Given the description of an element on the screen output the (x, y) to click on. 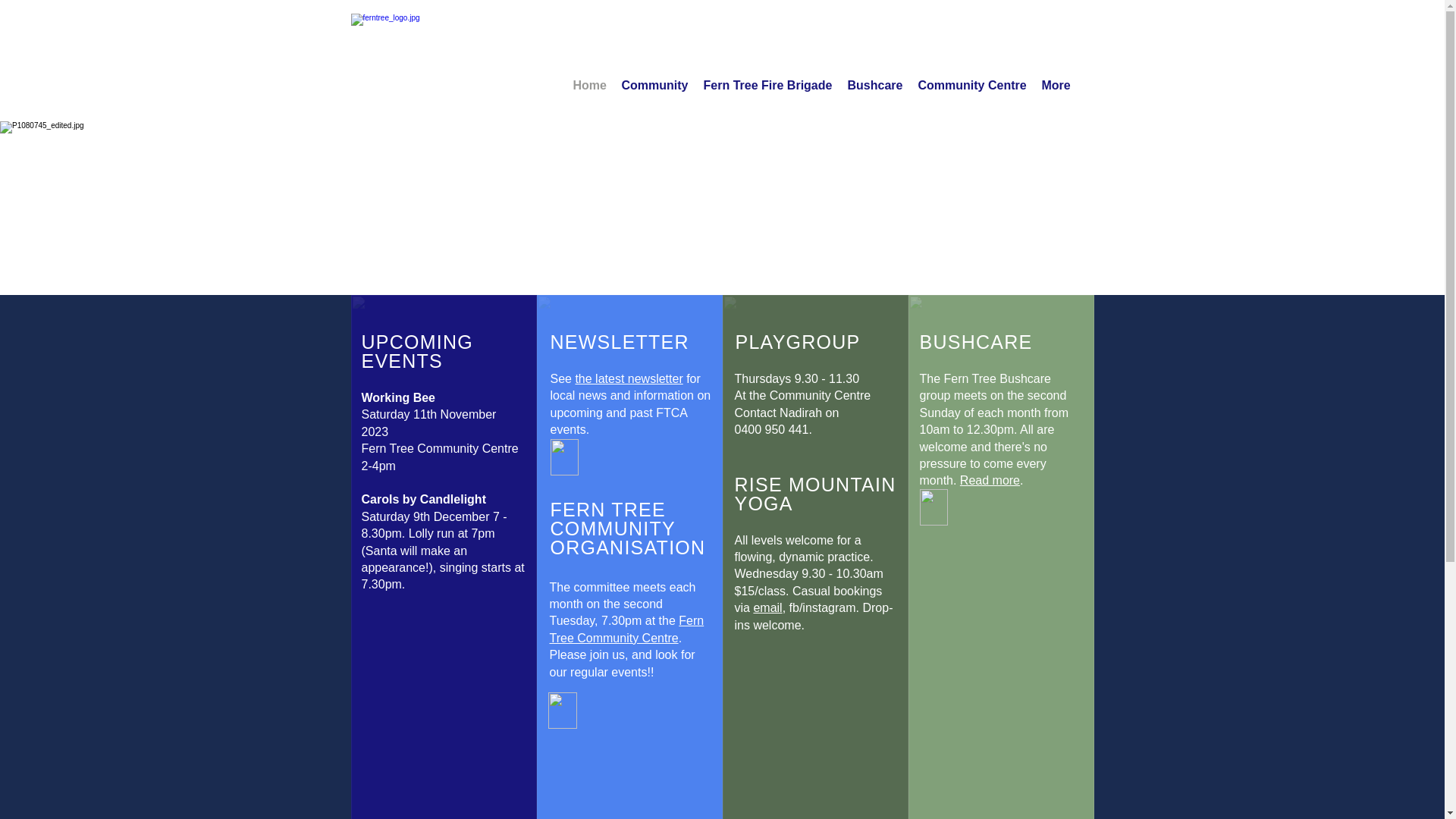
Community Element type: text (655, 85)
Community Centre Element type: text (971, 85)
Fern Tree Community Centre Element type: text (626, 628)
email Element type: text (767, 607)
FERN TREE COMMUNITY ORGANISATION Element type: text (628, 528)
Read more Element type: text (989, 479)
the latest newsletter Element type: text (628, 378)
PLAYGROUP Element type: text (797, 341)
BUSHCARE Element type: text (975, 341)
Fern Tree Fire Brigade Element type: text (768, 85)
NEWSLETTER Element type: text (619, 341)
UPCOMING EVENTS Element type: text (416, 351)
Home Element type: text (589, 85)
Bushcare Element type: text (875, 85)
